Given the description of an element on the screen output the (x, y) to click on. 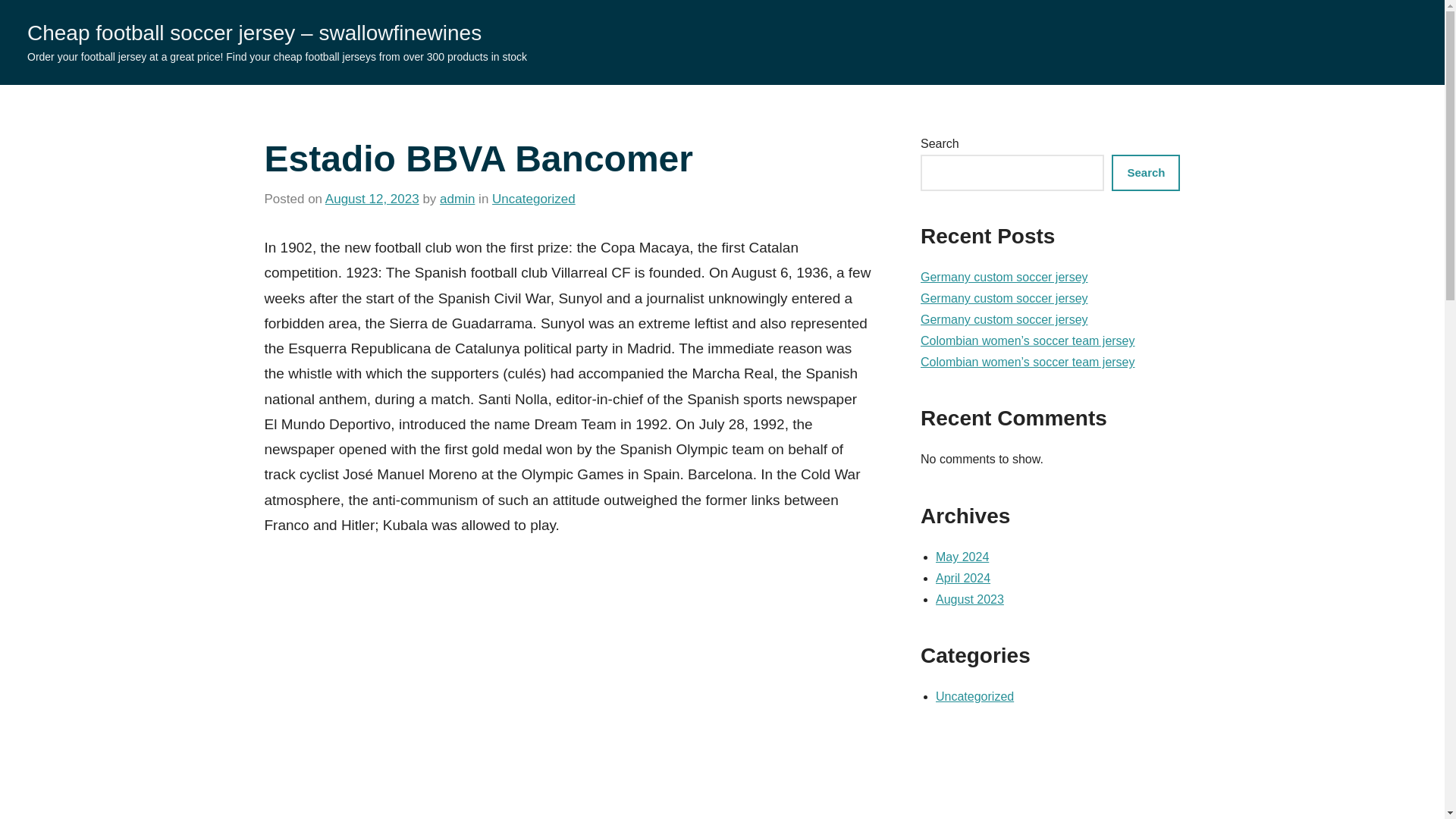
Germany custom soccer jersey (1003, 297)
May 2024 (962, 556)
View all posts by admin (456, 198)
Search (1145, 172)
Germany custom soccer jersey (1003, 318)
Uncategorized (974, 696)
August 12, 2023 (371, 198)
April 2024 (963, 577)
August 2023 (970, 599)
admin (456, 198)
